Given the description of an element on the screen output the (x, y) to click on. 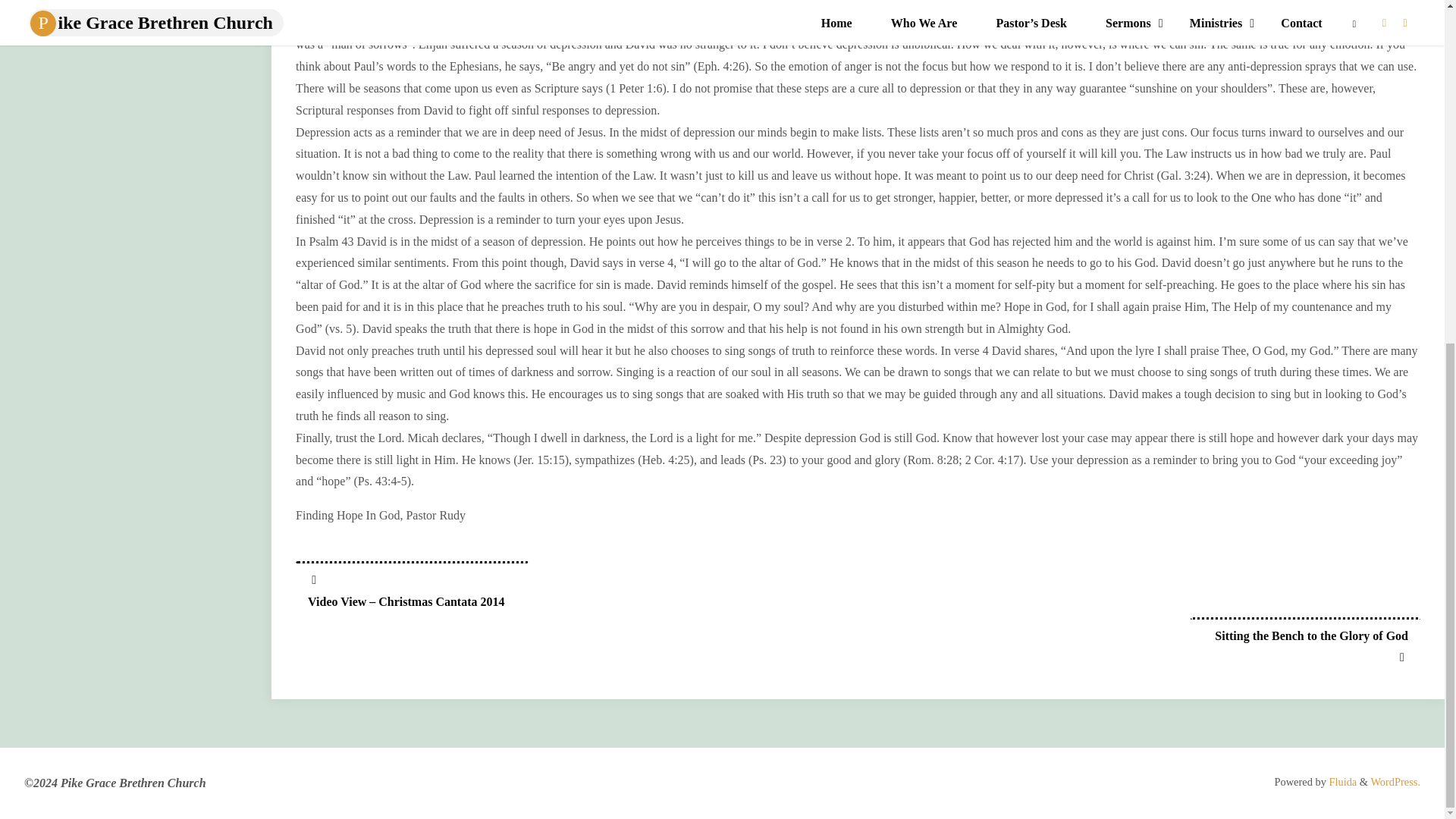
Fluida WordPress Theme by Cryout Creations (1341, 781)
Semantic Personal Publishing Platform (1395, 781)
